Given the description of an element on the screen output the (x, y) to click on. 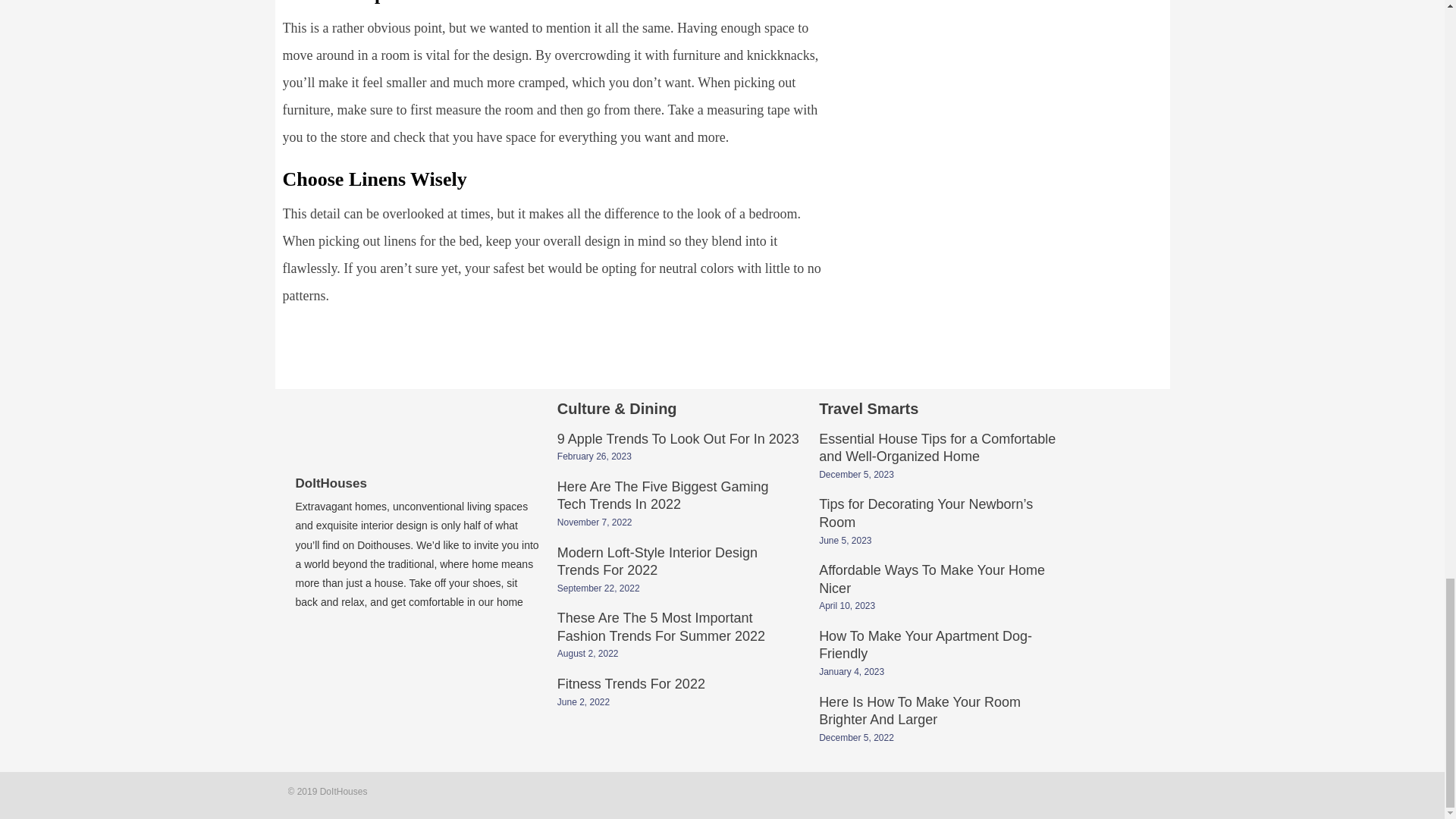
How To Make Your Apartment Dog-Friendly (925, 646)
Affordable Ways To Make Your Home Nicer (931, 580)
9 Apple Trends To Look Out For In 2023 (678, 439)
Here Is How To Make Your Room Brighter And Larger (919, 712)
Modern Loft-Style Interior Design Trends For 2022 (657, 563)
Fitness Trends For 2022 (630, 685)
Here Are The Five Biggest Gaming Tech Trends In 2022 (662, 497)
